Given the description of an element on the screen output the (x, y) to click on. 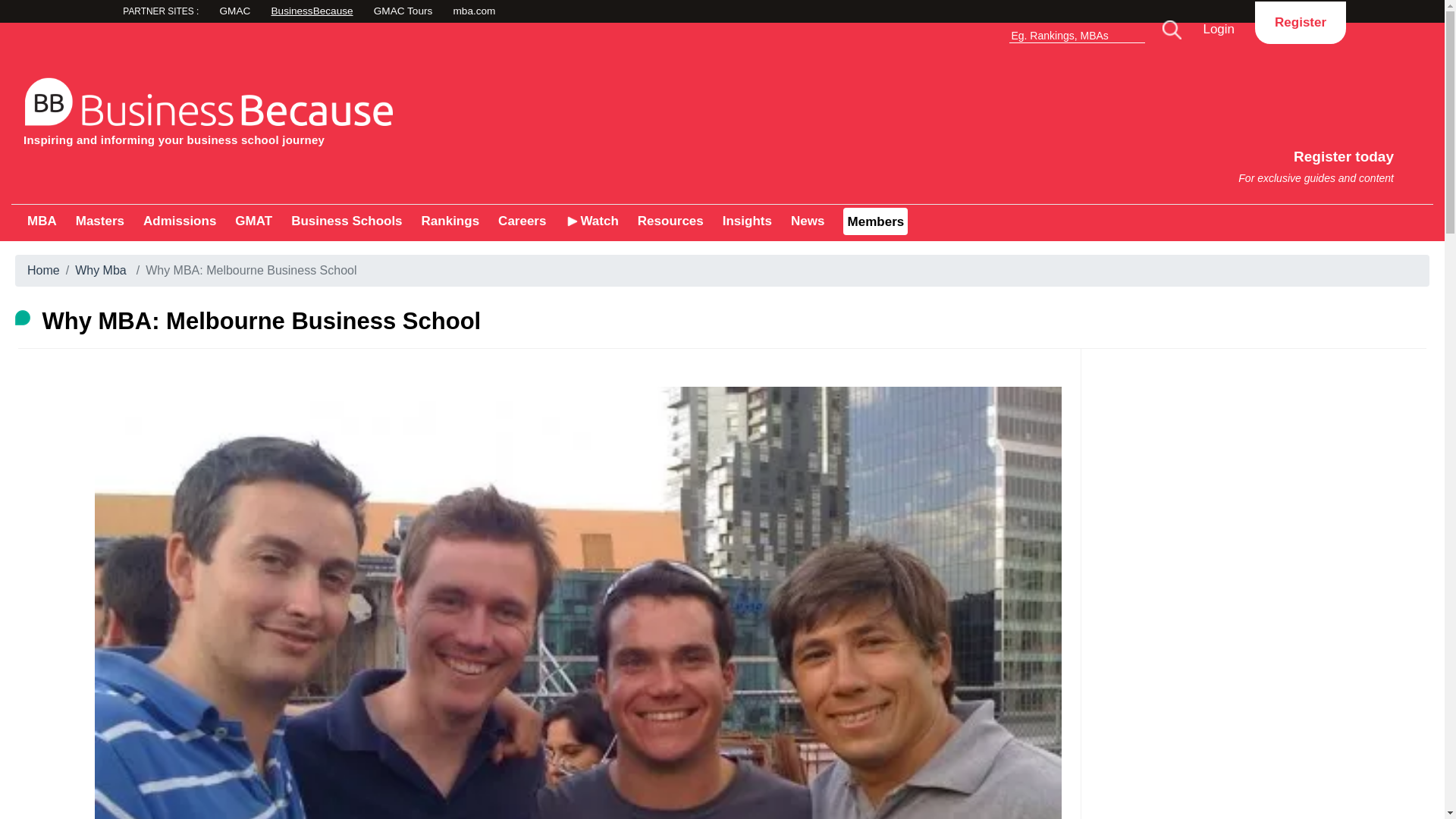
GMAC (1089, 159)
GMAT (276, 12)
Inspiring and informing your business school journey (253, 220)
Admissions (367, 108)
MBA (178, 220)
Register (41, 220)
PARTNER SITES : (1300, 22)
BusinessBecause (189, 12)
Business Schools (367, 12)
